Given the description of an element on the screen output the (x, y) to click on. 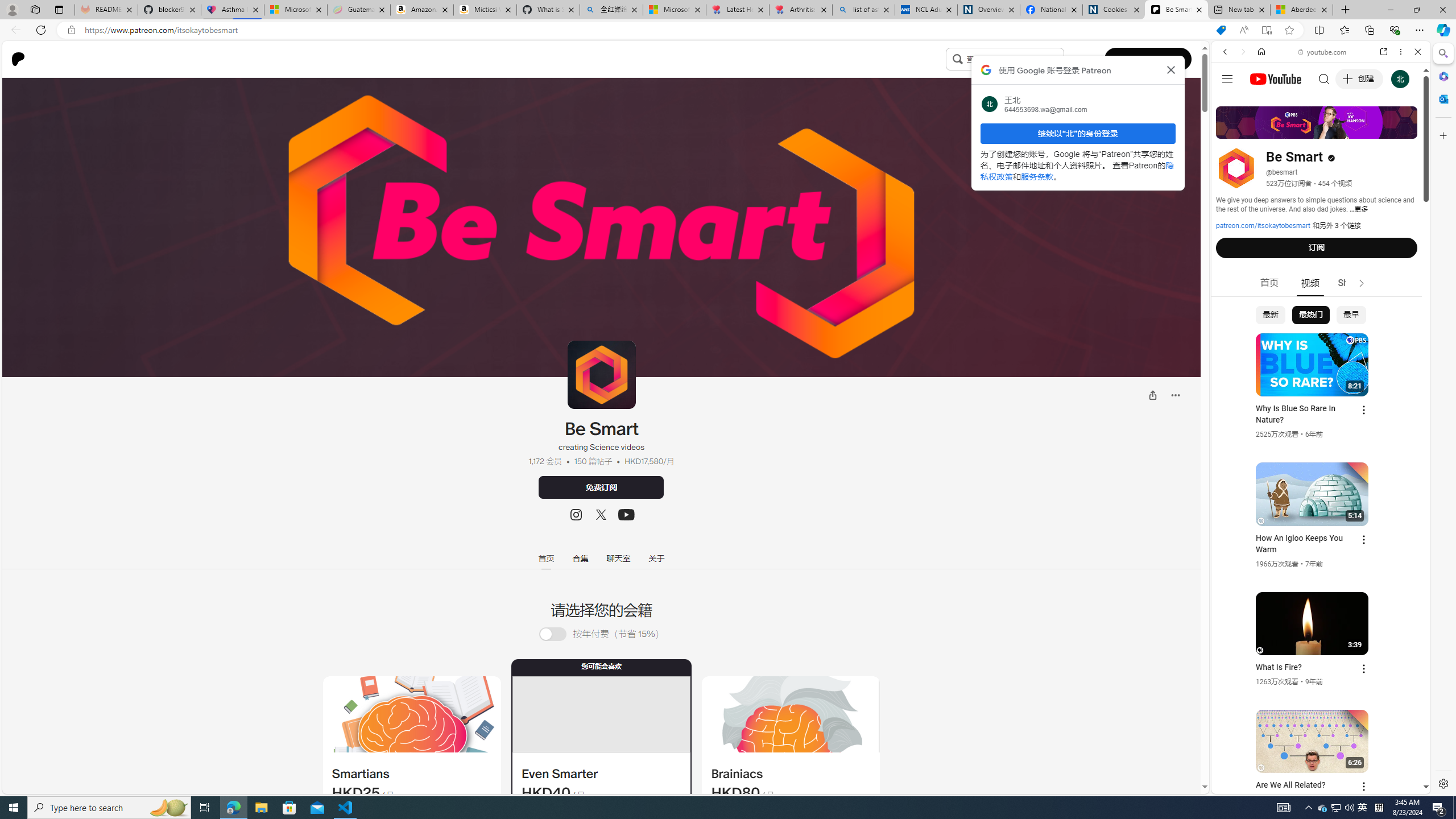
Global web icon (1232, 655)
Close Outlook pane (1442, 98)
Show More Music (1390, 310)
AutomationID: right (1361, 283)
Trailer #2 [HD] (1320, 337)
Class: sc-1a2jhmw-3 djwfLg (790, 713)
